Given the description of an element on the screen output the (x, y) to click on. 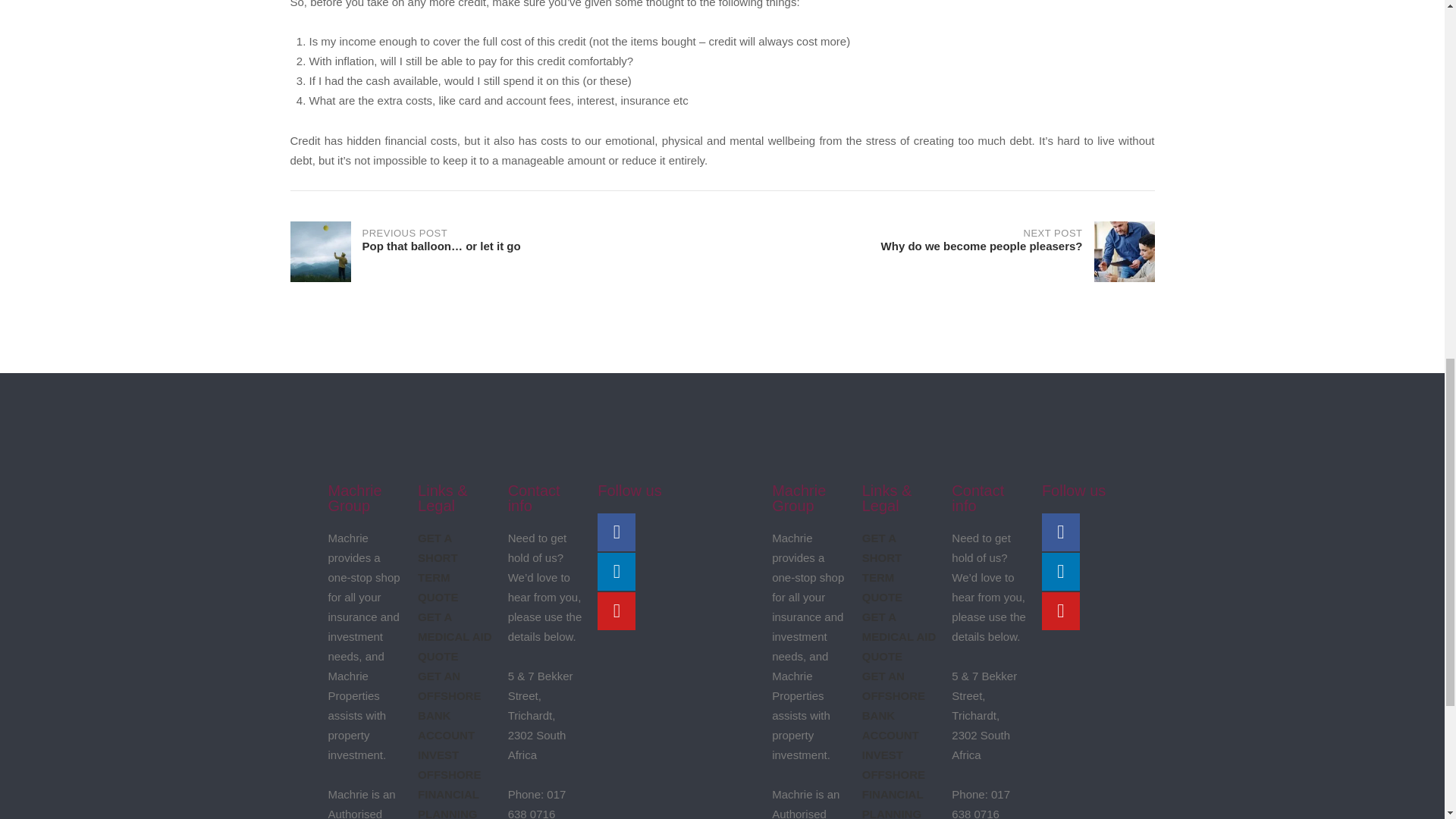
FINANCIAL PLANNING (892, 803)
GET A MEDICAL AID QUOTE (898, 636)
GET A SHORT TERM QUOTE (881, 567)
GET AN OFFSHORE BANK ACCOUNT (892, 705)
GET AN OFFSHORE BANK ACCOUNT (448, 705)
GET A MEDICAL AID QUOTE (454, 636)
GET A SHORT TERM QUOTE (437, 567)
INVEST OFFSHORE (448, 764)
FINANCIAL PLANNING (448, 803)
INVEST OFFSHORE (938, 251)
